Given the description of an element on the screen output the (x, y) to click on. 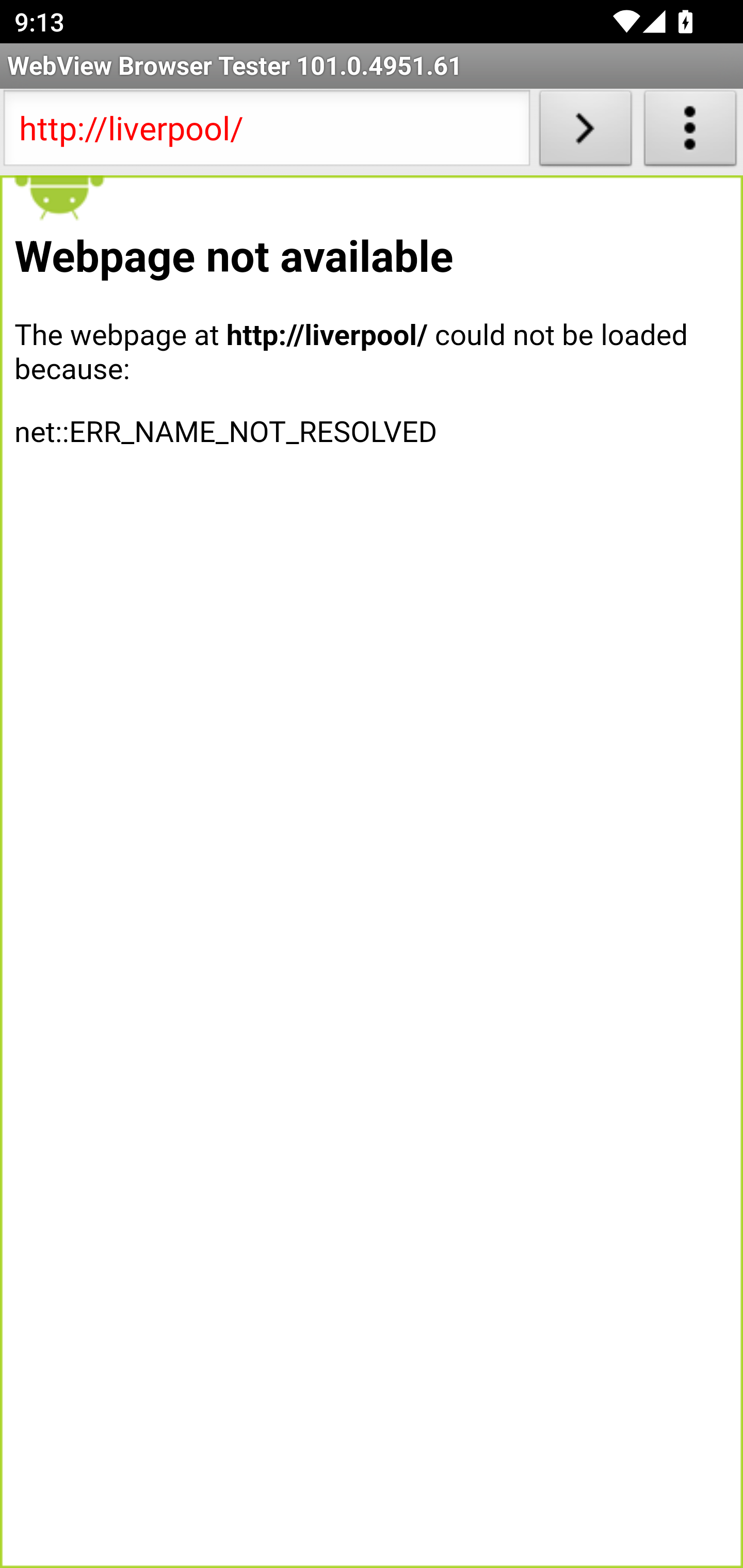
http://liverpool/ (266, 132)
Load URL (585, 132)
About WebView (690, 132)
